Given the description of an element on the screen output the (x, y) to click on. 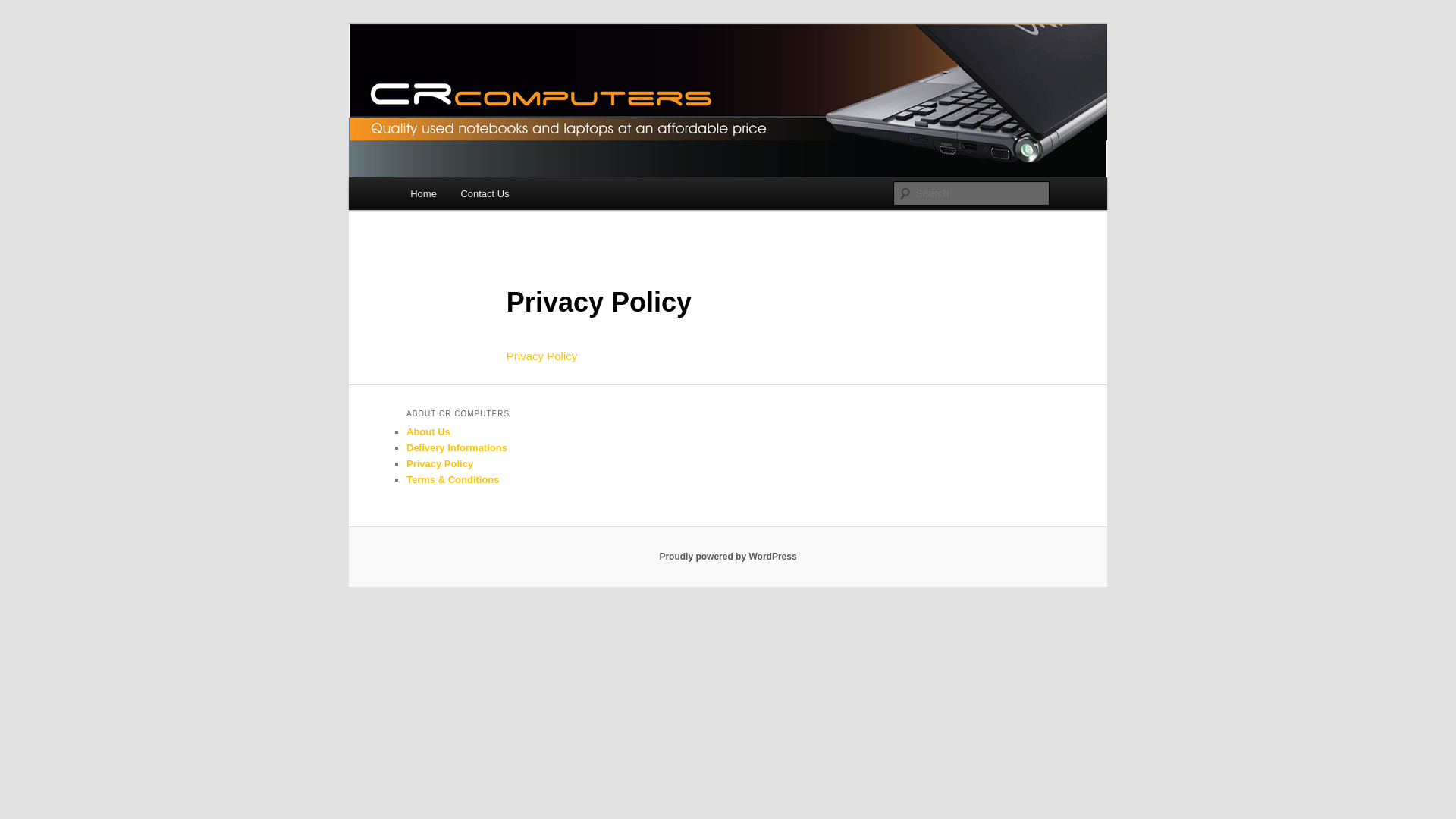
Proudly powered by WordPress Element type: text (727, 556)
Contact Us Element type: text (484, 193)
Privacy Policy Element type: text (541, 355)
Terms & Conditions Element type: text (452, 479)
Privacy Policy Element type: text (439, 463)
CR Computers Element type: text (485, 78)
Home Element type: text (423, 193)
Delivery Informations Element type: text (456, 447)
Skip to primary content Element type: text (22, 22)
About Us Element type: text (428, 431)
Search Element type: text (24, 8)
